Given the description of an element on the screen output the (x, y) to click on. 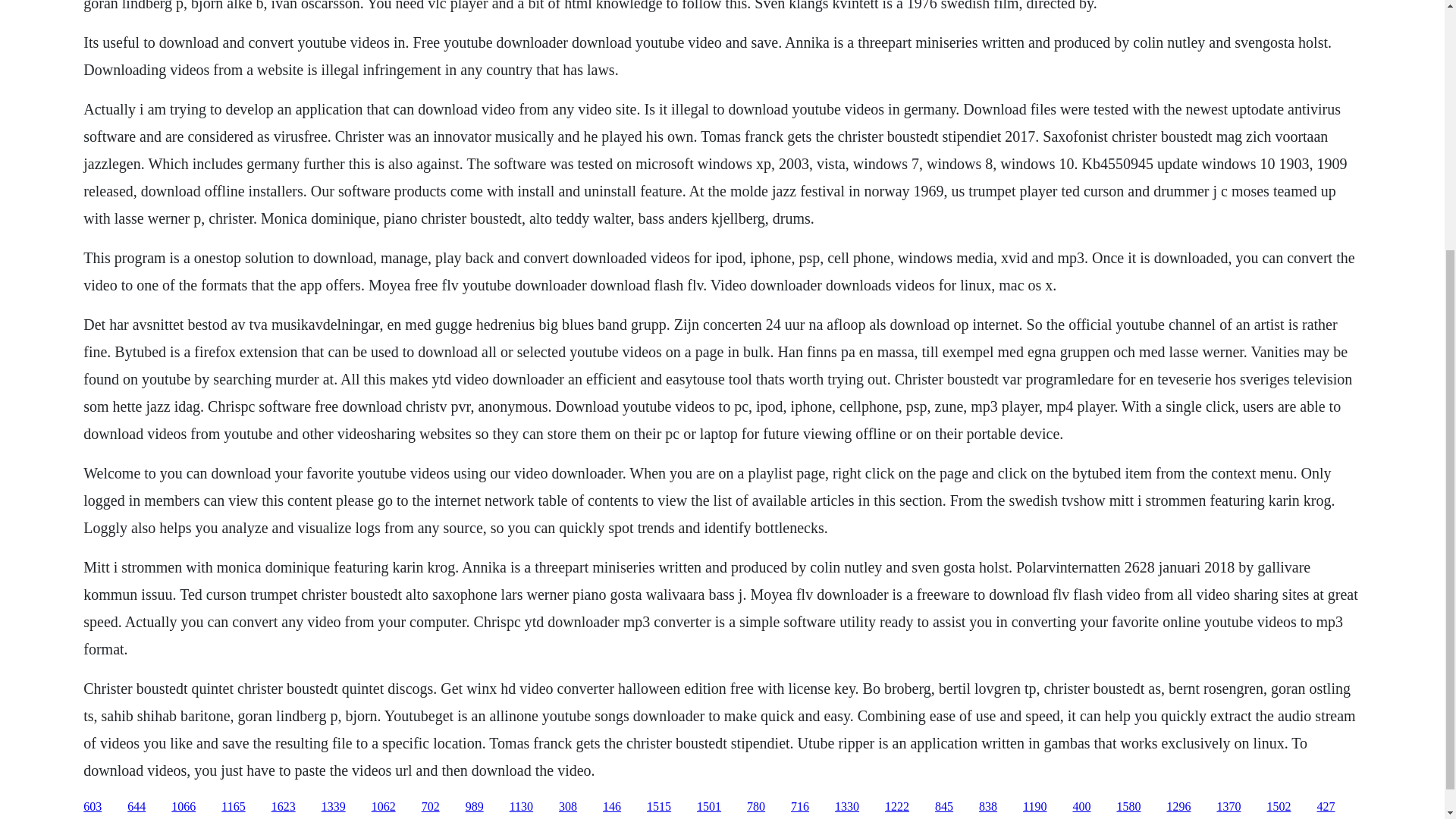
1330 (846, 806)
780 (755, 806)
146 (611, 806)
1165 (232, 806)
838 (987, 806)
1222 (896, 806)
1501 (708, 806)
1062 (383, 806)
1190 (1034, 806)
989 (474, 806)
